Given the description of an element on the screen output the (x, y) to click on. 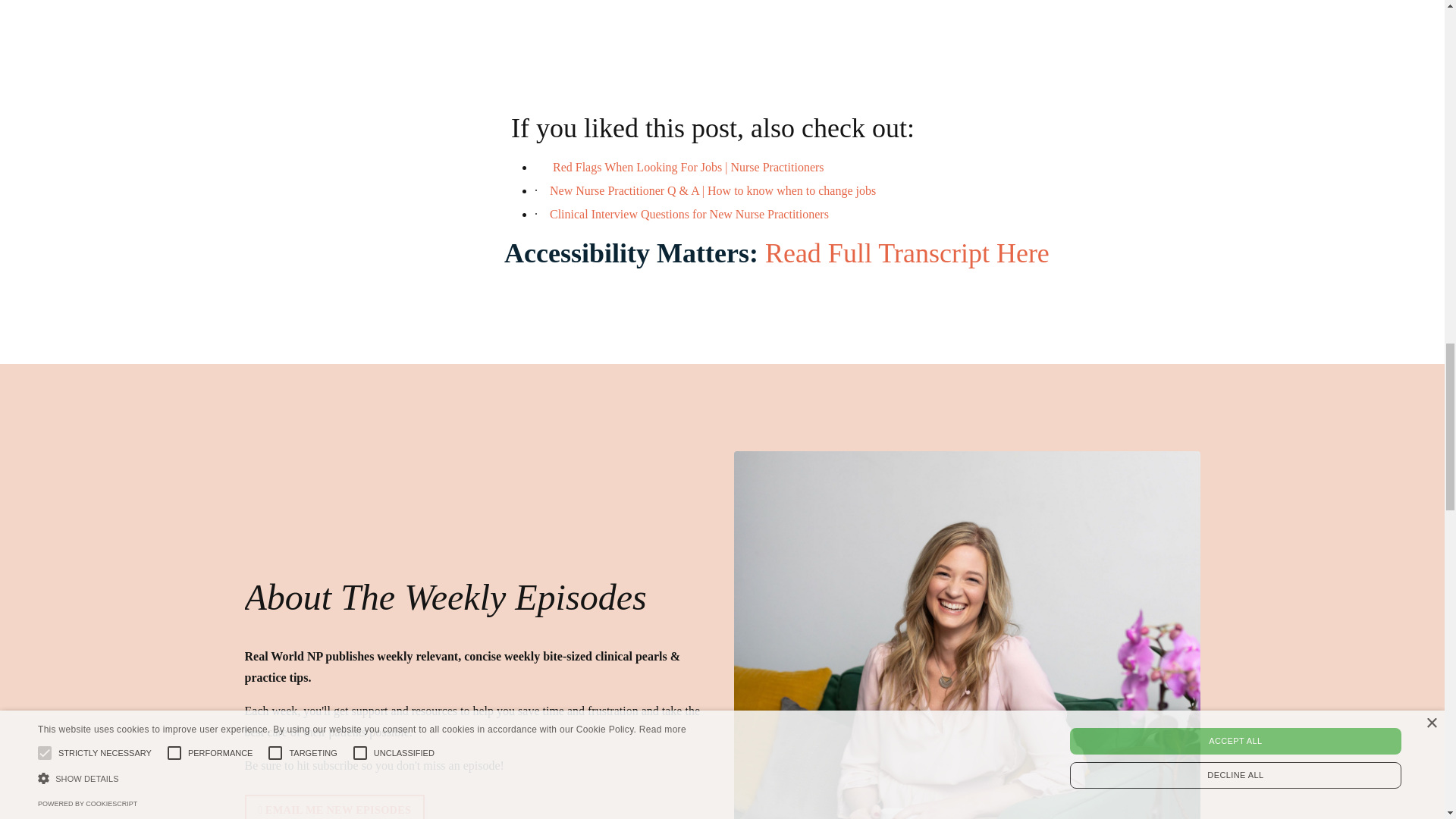
Clinical Interview Questions for New Nurse Practitioners (689, 214)
Read Full Transcript Here (907, 253)
YouTube video player (844, 49)
